Given the description of an element on the screen output the (x, y) to click on. 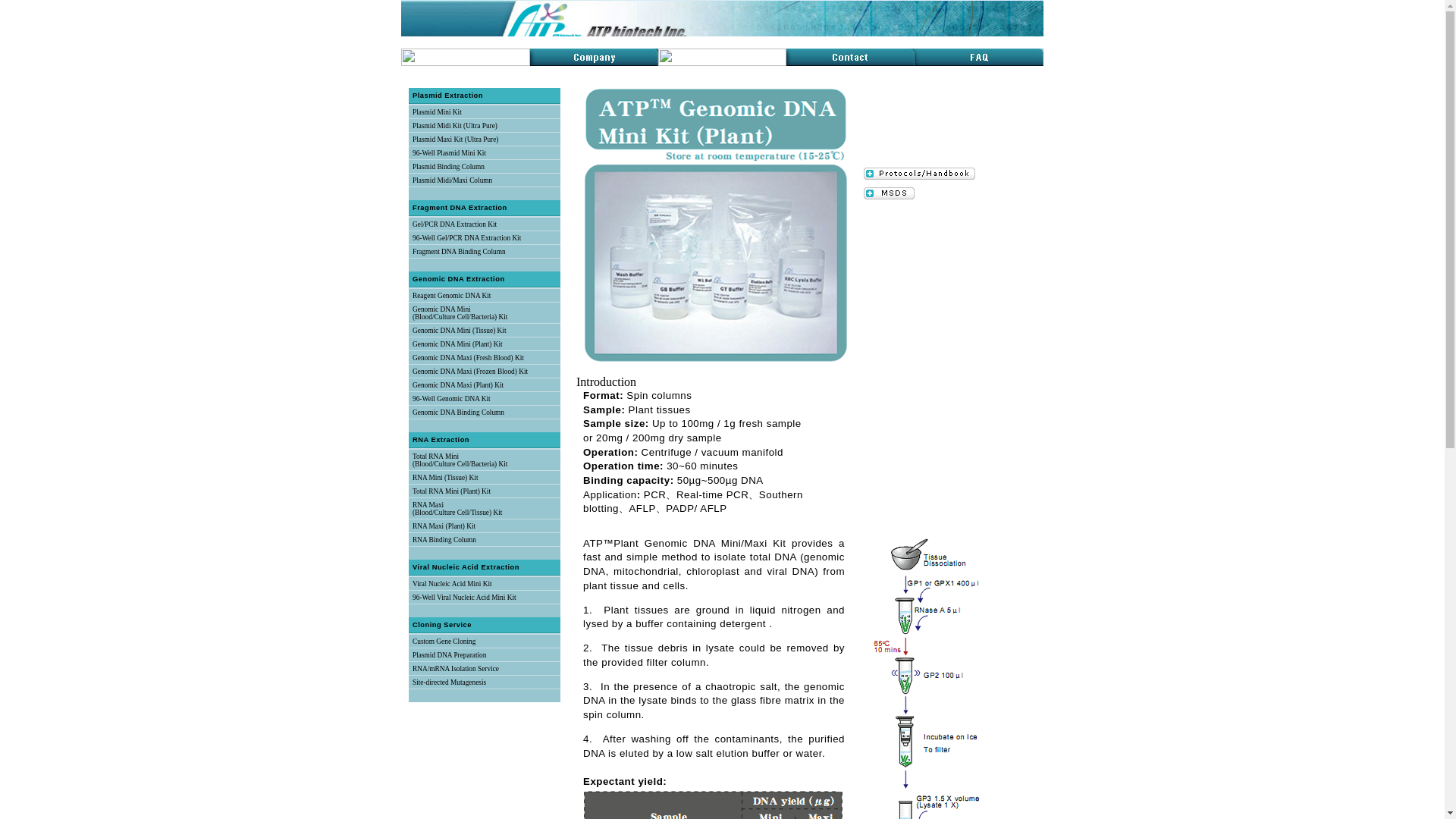
Plasmid DNA Preparation (449, 655)
Fragment DNA Binding Column (458, 251)
Genomic DNA Binding Column (457, 412)
96-Well Viral Nucleic Acid Mini Kit (464, 597)
Site-directed Mutagenesis (449, 682)
Plasmid Mini Kit (436, 112)
Reagent Genomic DNA Kit (451, 295)
Plasmid Binding Column (448, 166)
RNA Binding Column (444, 539)
Viral Nucleic Acid Mini Kit (452, 583)
96-Well Plasmid Mini Kit (449, 153)
96-Well Genomic DNA Kit (451, 398)
Custom Gene Cloning (444, 641)
